Given the description of an element on the screen output the (x, y) to click on. 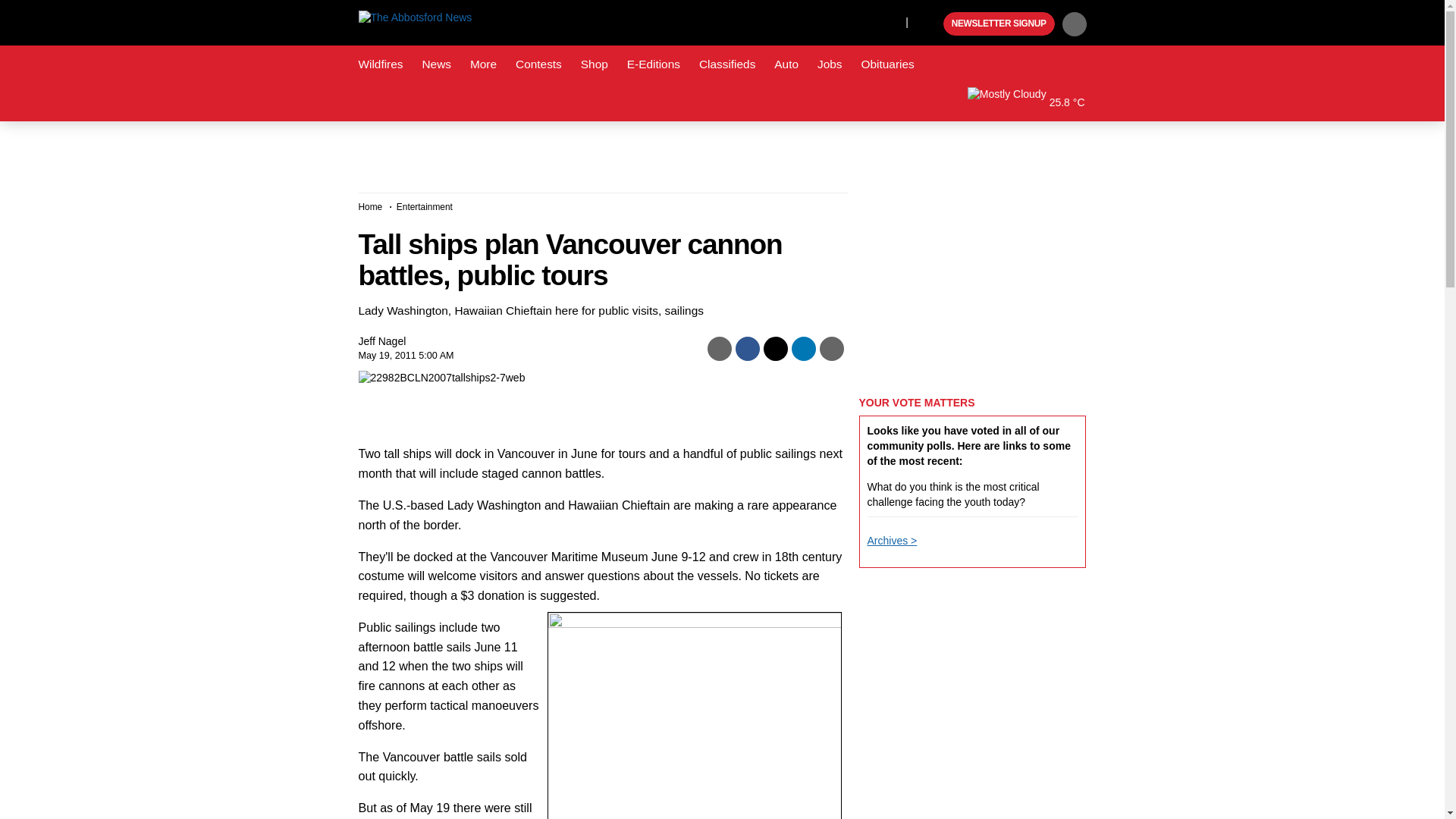
Play (929, 24)
News (435, 64)
Black Press Media (929, 24)
NEWSLETTER SIGNUP (998, 24)
Wildfires (380, 64)
X (889, 21)
